Given the description of an element on the screen output the (x, y) to click on. 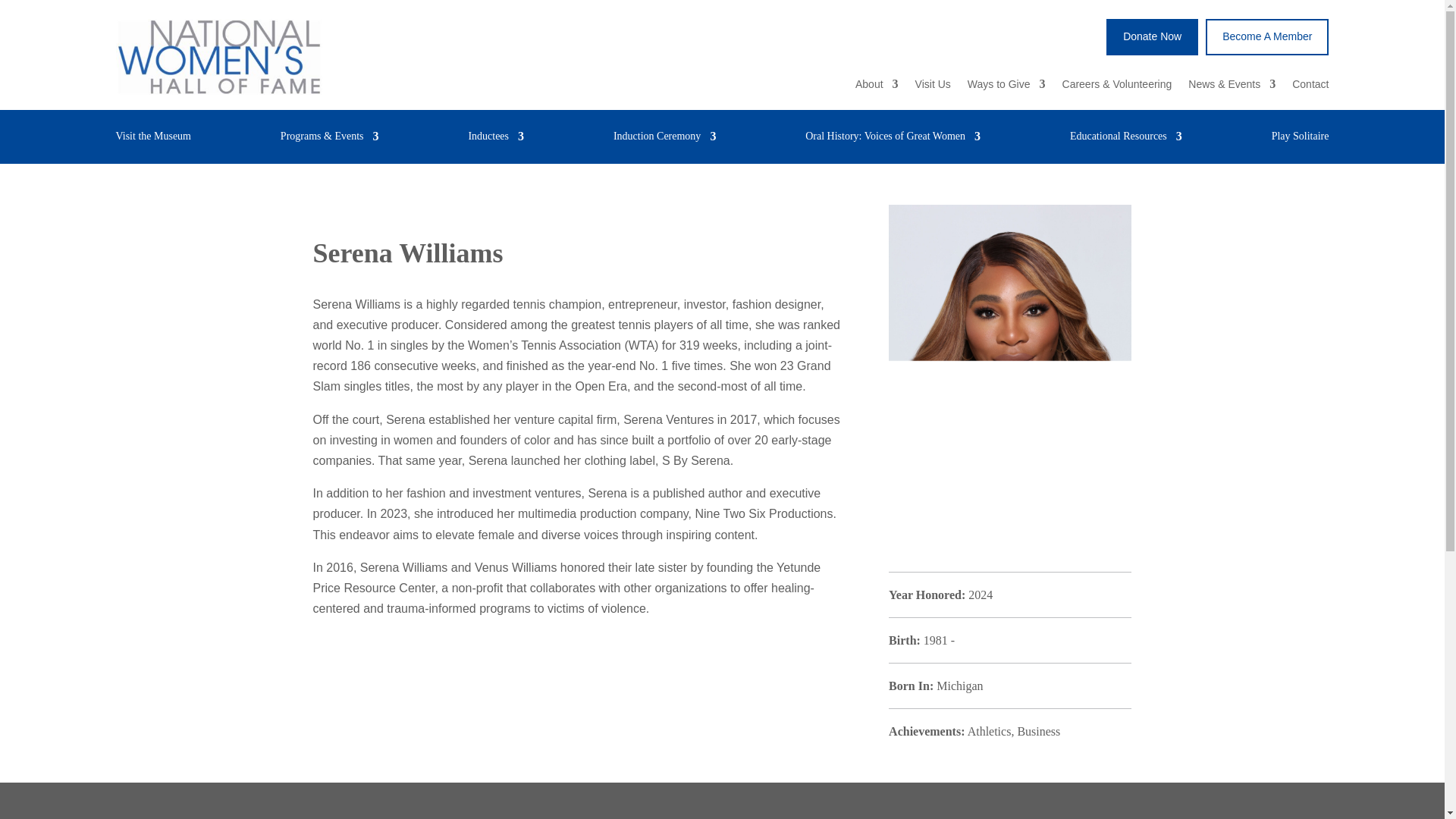
Donate Now (1152, 36)
Induction Ceremony (664, 139)
Become A Member (1266, 36)
About (877, 86)
Ways to Give (1006, 86)
Inductees (495, 139)
Visit Us (932, 86)
Visit the Museum (152, 139)
Contact (1309, 86)
NhXRtCKj (218, 56)
